Given the description of an element on the screen output the (x, y) to click on. 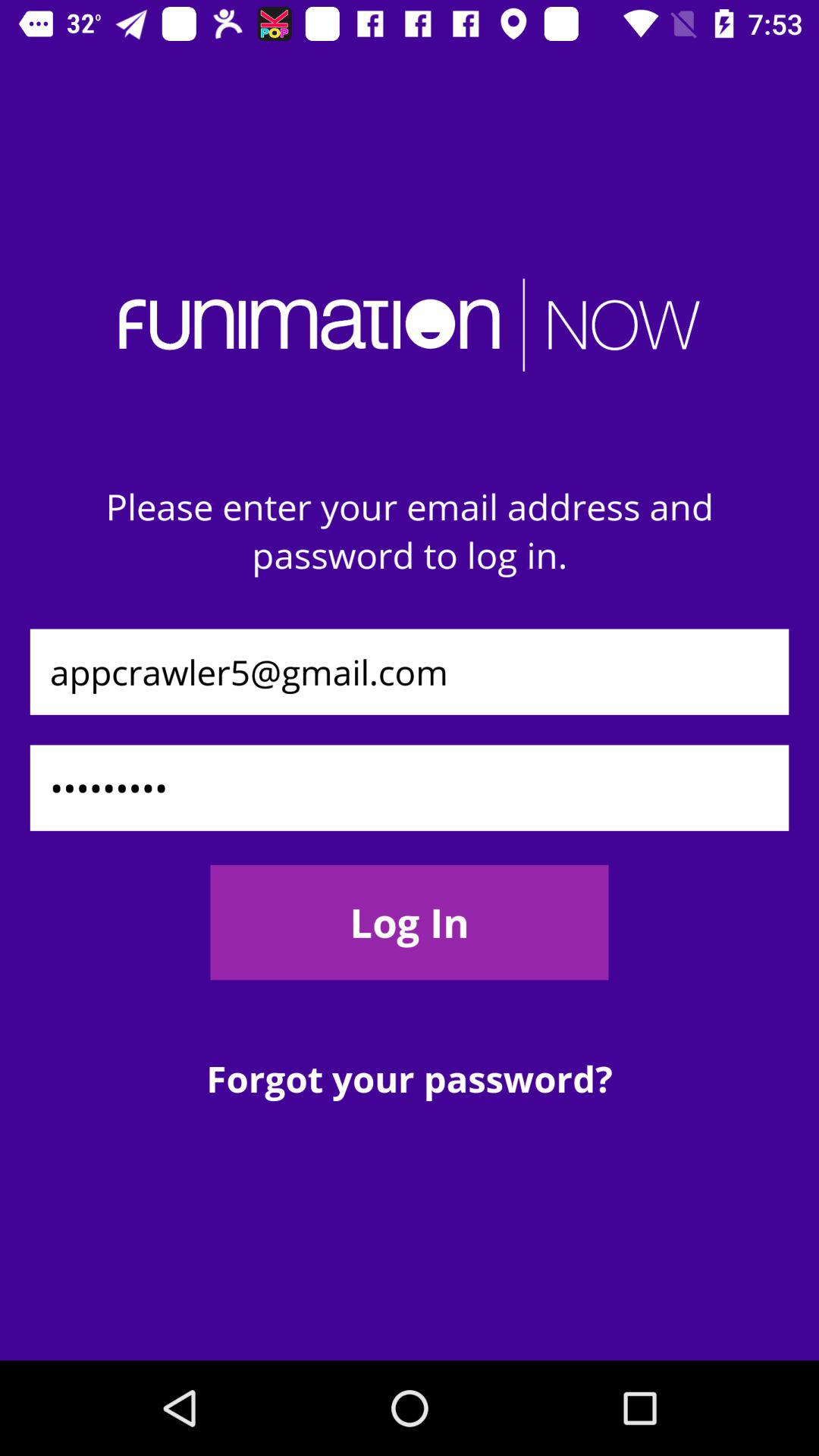
jump to appcrawler5@gmail.com icon (409, 671)
